Given the description of an element on the screen output the (x, y) to click on. 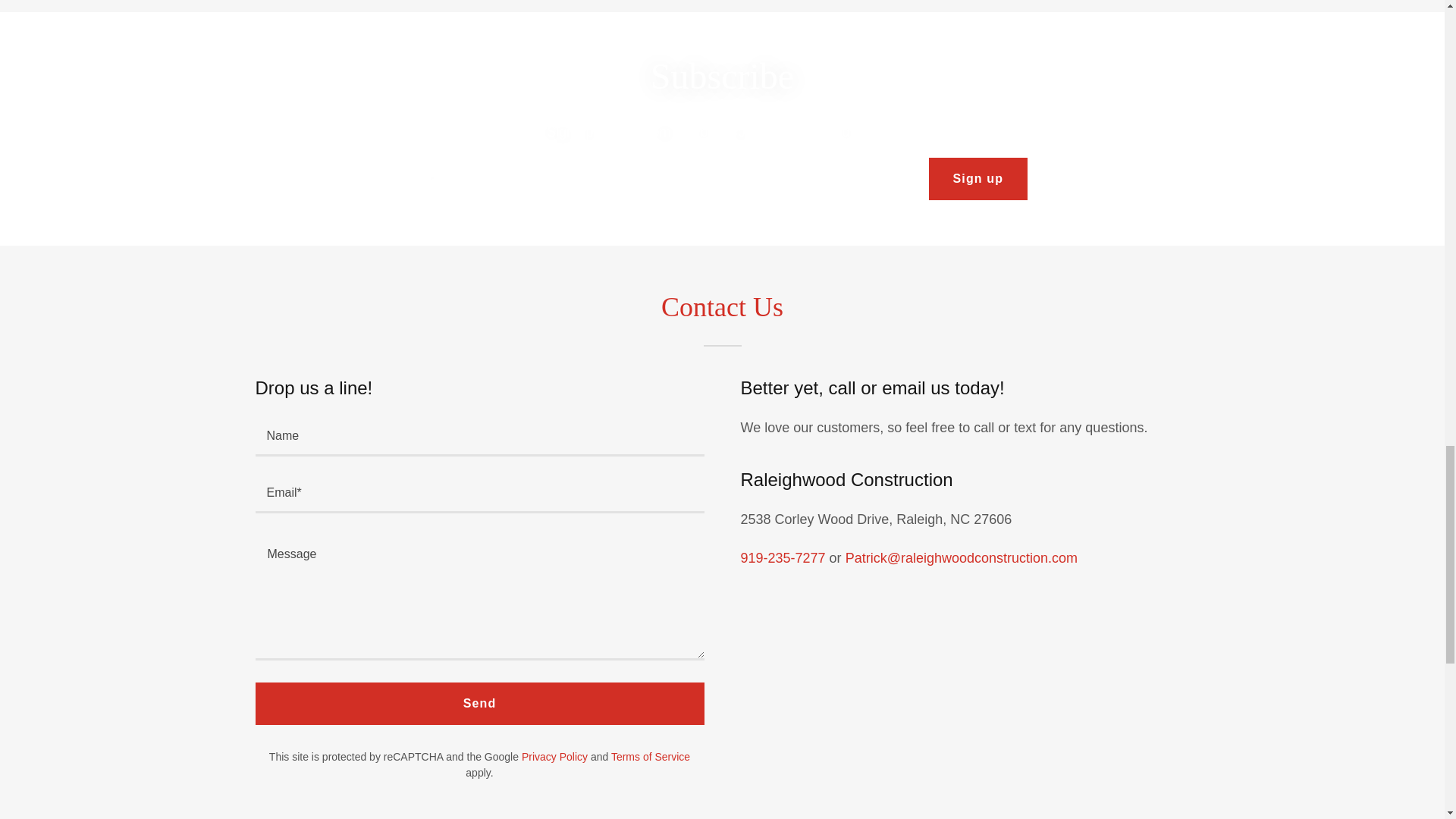
Privacy Policy (554, 756)
919-235-7277 (782, 557)
Sign up (977, 178)
Terms of Service (650, 756)
Send (478, 703)
